Given the description of an element on the screen output the (x, y) to click on. 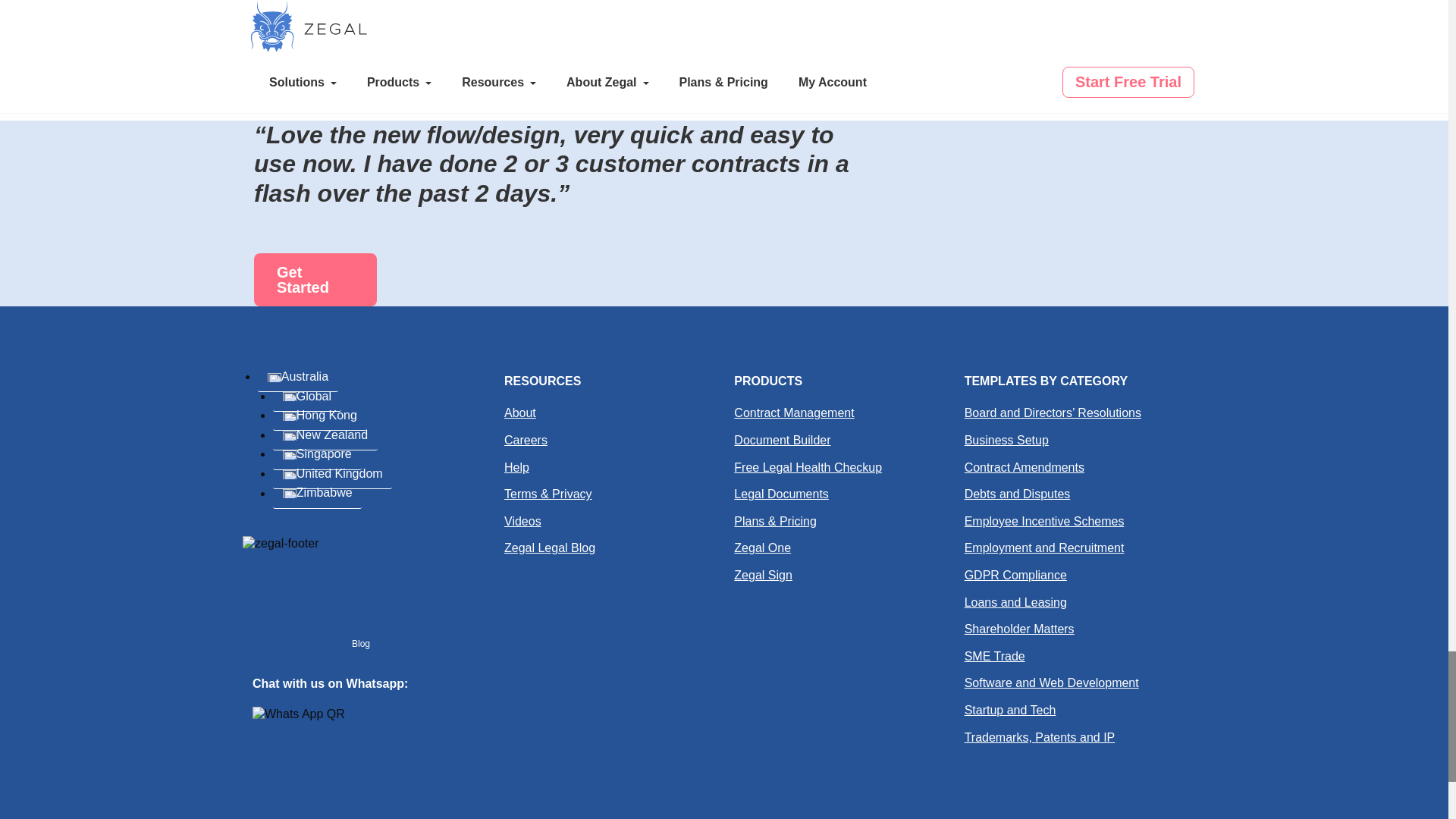
Whats App QR (298, 713)
